Given the description of an element on the screen output the (x, y) to click on. 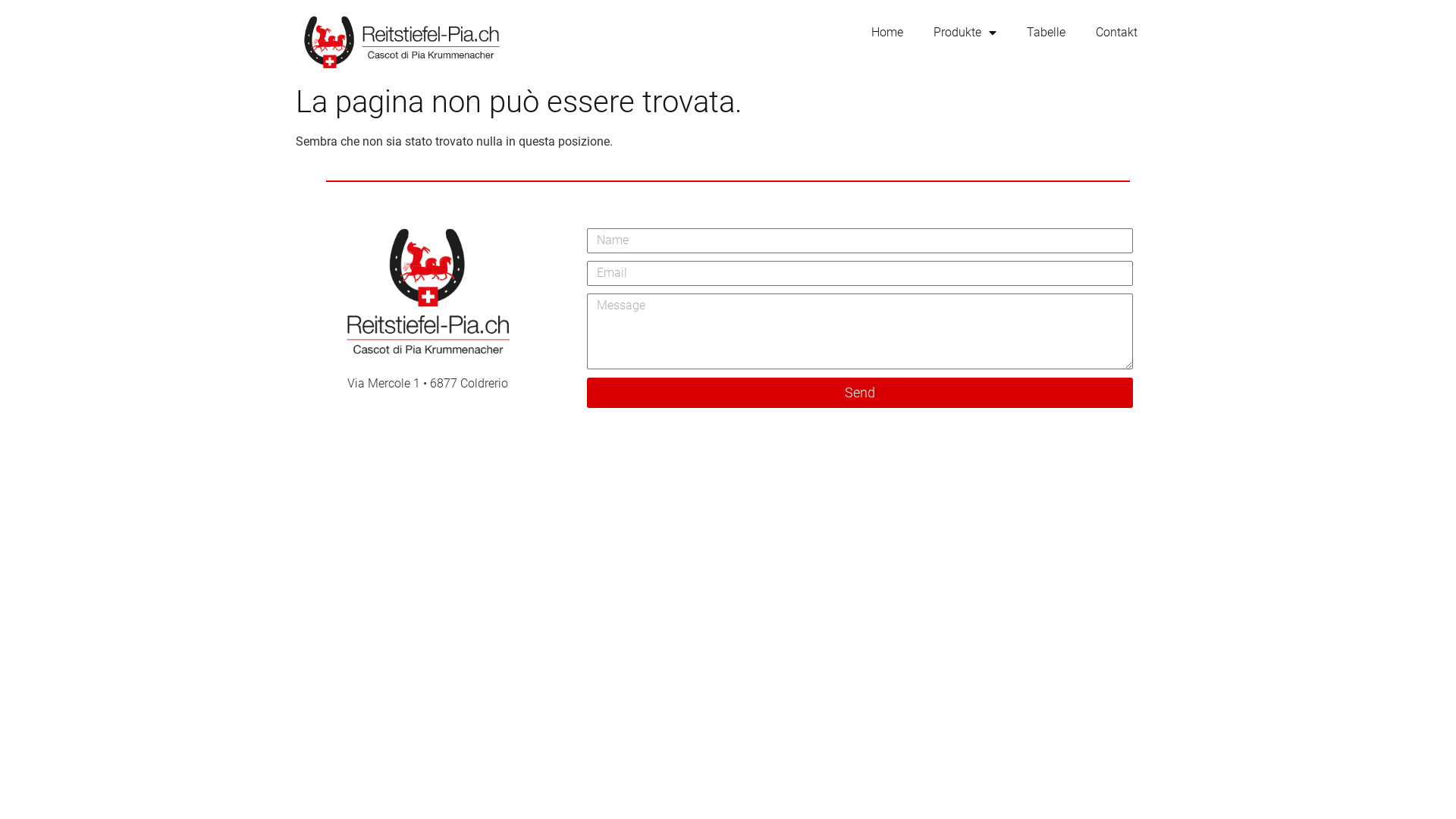
Tabelle Element type: text (1045, 32)
Send Element type: text (859, 392)
Home Element type: text (887, 32)
Contakt Element type: text (1116, 32)
Produkte Element type: text (964, 32)
